Given the description of an element on the screen output the (x, y) to click on. 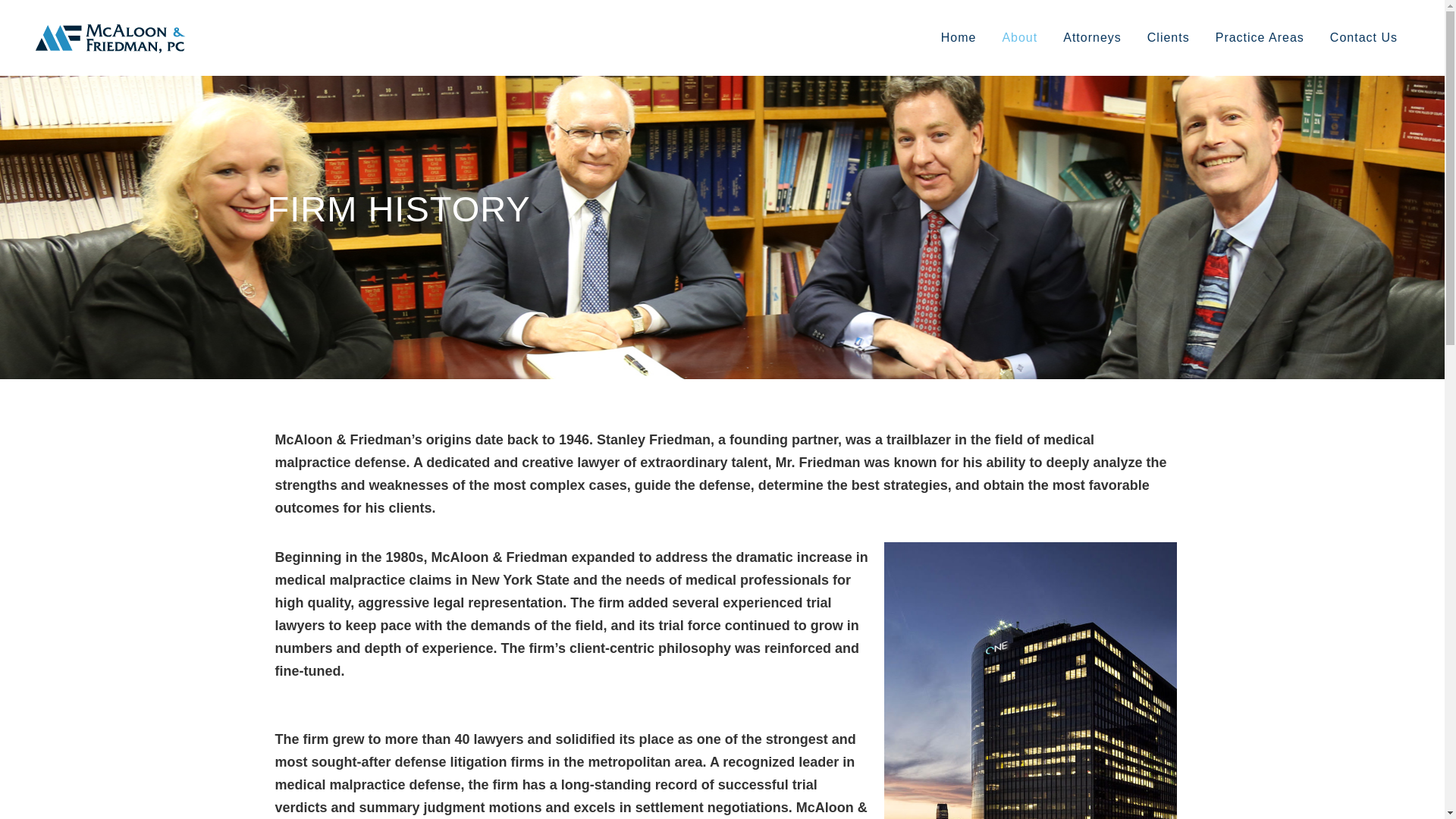
Attorneys (1091, 38)
Home (959, 38)
Practice Areas (1259, 38)
1 State St (1030, 680)
Clients (1168, 38)
About (1018, 38)
Contact Us (1363, 38)
